Given the description of an element on the screen output the (x, y) to click on. 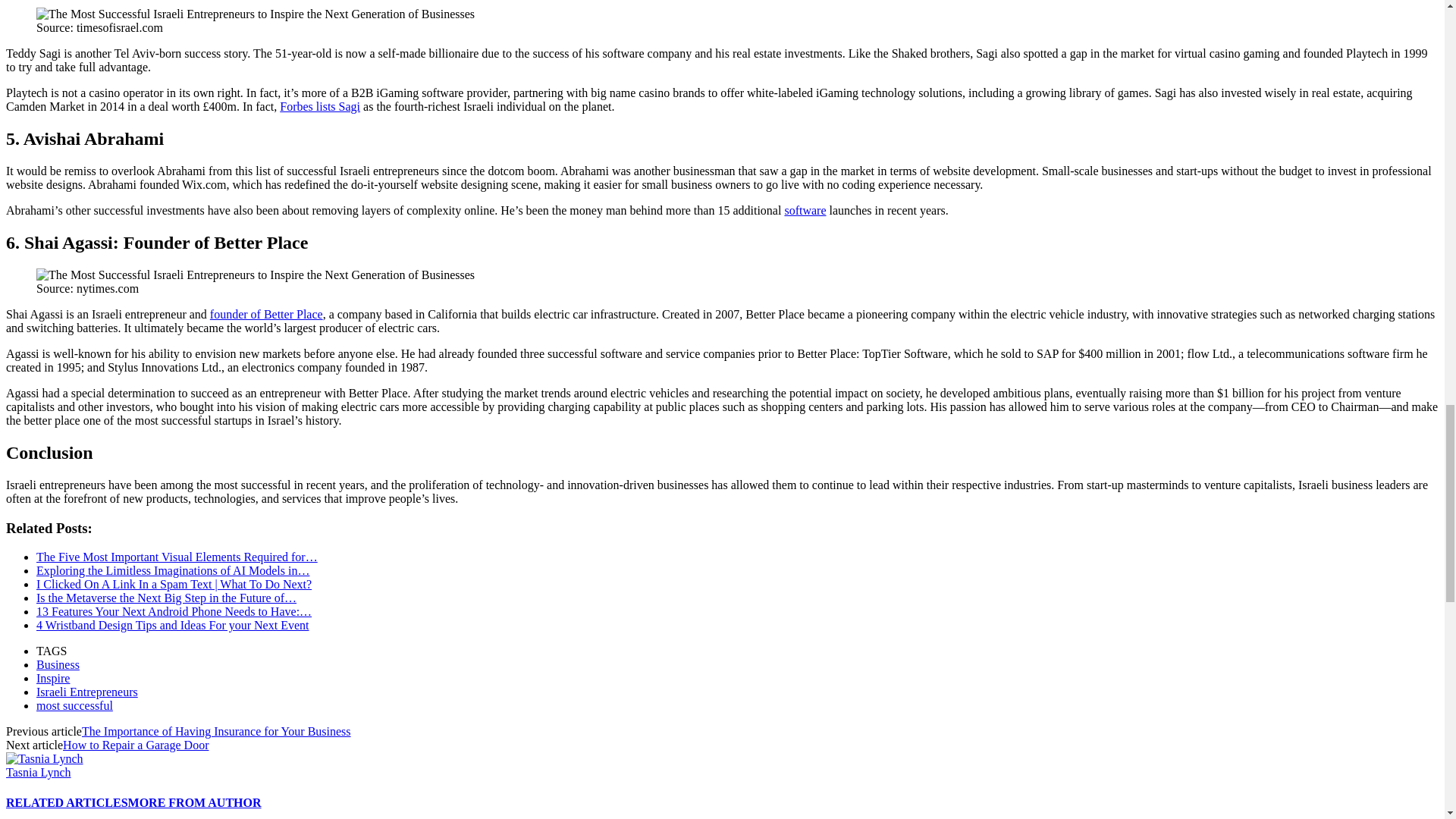
Forbes lists Sagi (319, 106)
software (804, 210)
founder of Better Place (266, 314)
